Given the description of an element on the screen output the (x, y) to click on. 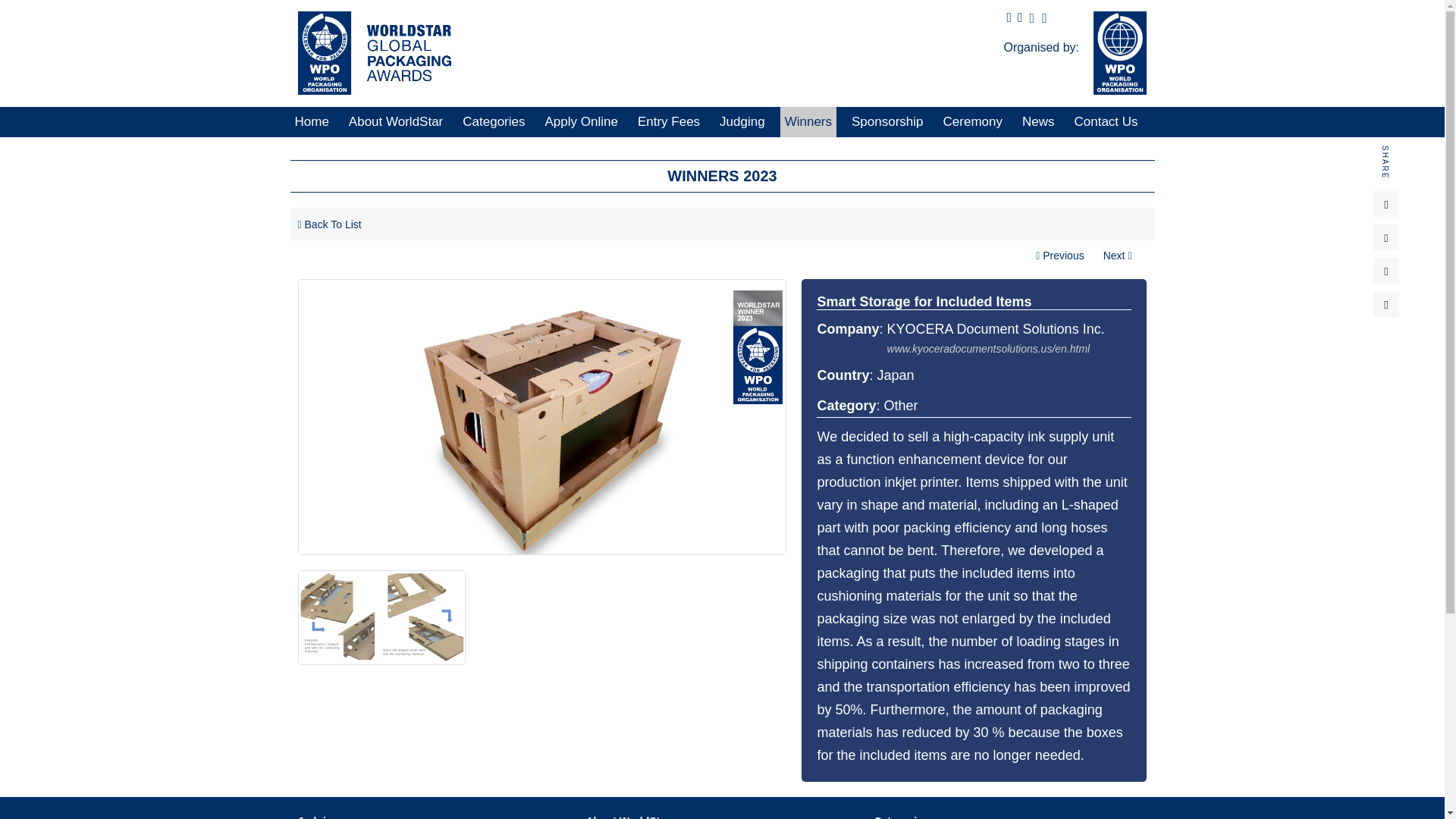
Next (1117, 255)
Click To Enlarge (381, 617)
Apply Online (580, 122)
About WorldStar (394, 122)
Click To Enlarge (542, 417)
Facebook (1032, 18)
Judging (742, 122)
Youtube Channel (1044, 18)
Sponsorship (887, 122)
Previous (1059, 255)
Ceremony (973, 122)
Categories (493, 122)
Home (369, 53)
